Given the description of an element on the screen output the (x, y) to click on. 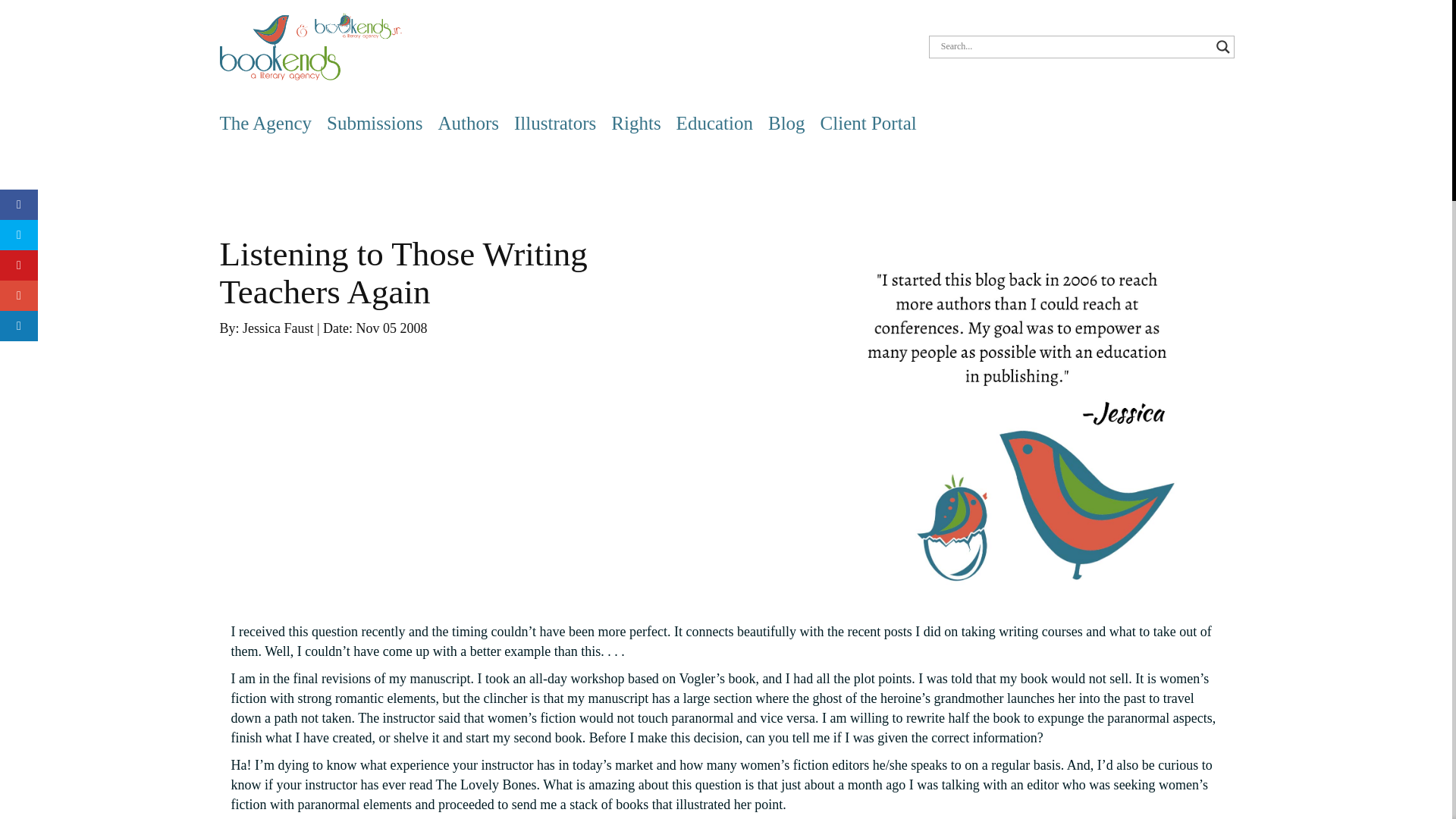
Blog (786, 123)
Illustrators (554, 123)
Authors (468, 123)
Education (714, 123)
Client Portal (869, 123)
The Agency (265, 123)
Rights (636, 123)
Submissions (374, 123)
BookEnds Literary Agency (310, 46)
